Given the description of an element on the screen output the (x, y) to click on. 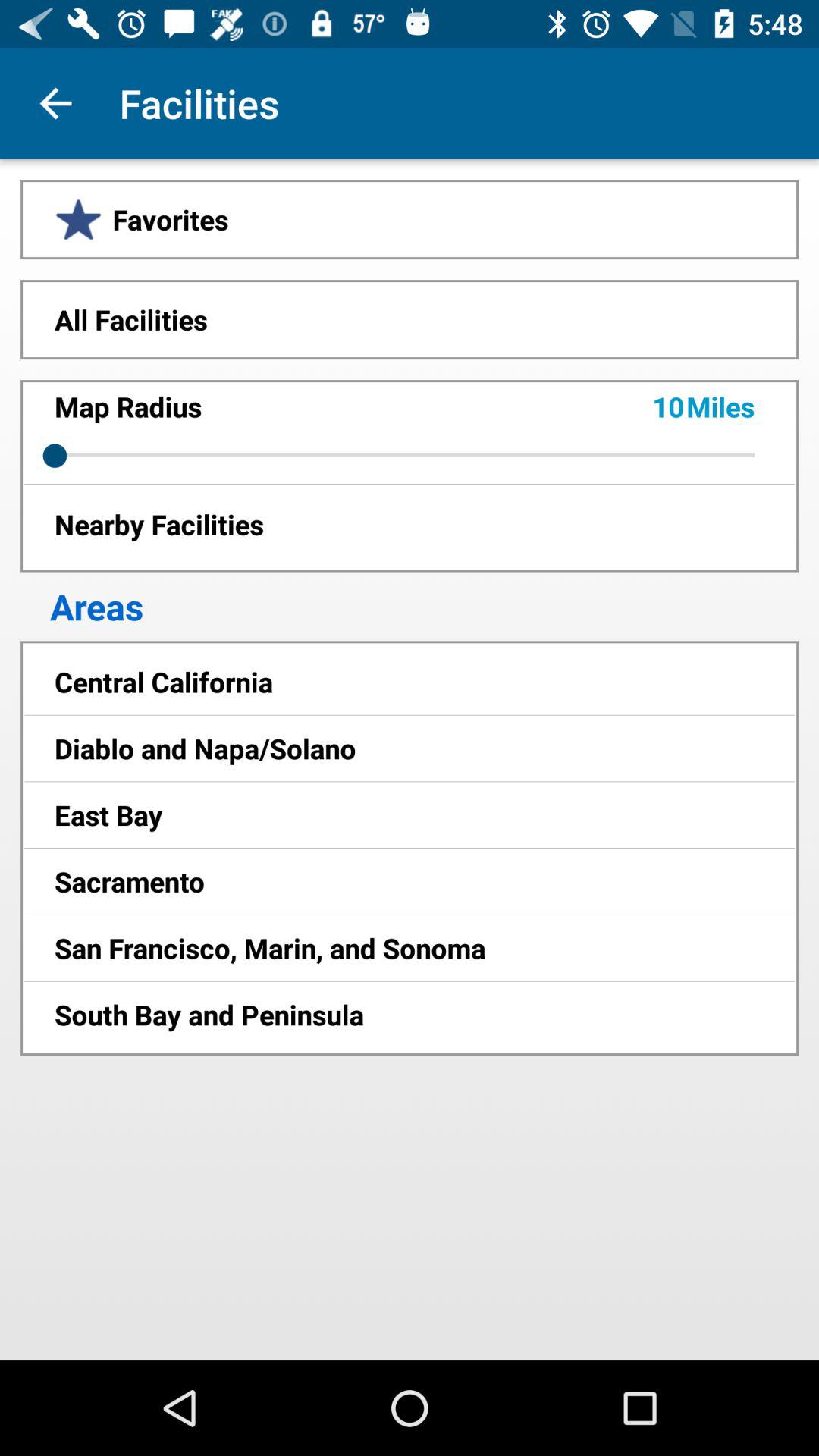
click item above the 10	miles icon (409, 319)
